Given the description of an element on the screen output the (x, y) to click on. 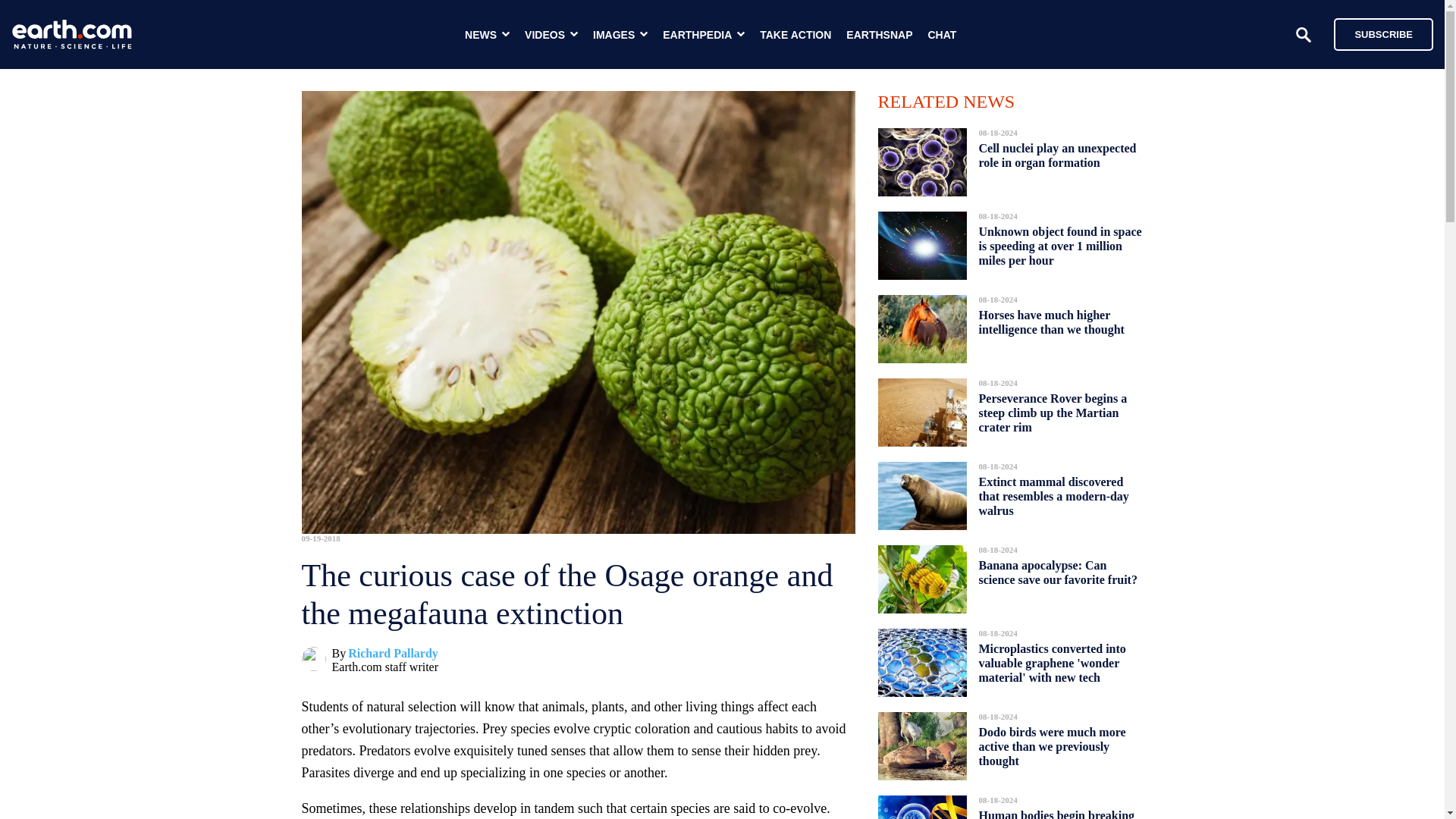
Cell nuclei play an unexpected role in organ formation (1056, 155)
CHAT (941, 34)
SUBSCRIBE (1382, 34)
Richard Pallardy (392, 653)
Horses have much higher intelligence than we thought (1051, 322)
SUBSCRIBE (1375, 33)
Dodo birds were much more active than we previously thought (1051, 746)
Banana apocalypse: Can science save our favorite fruit? (1057, 572)
